Given the description of an element on the screen output the (x, y) to click on. 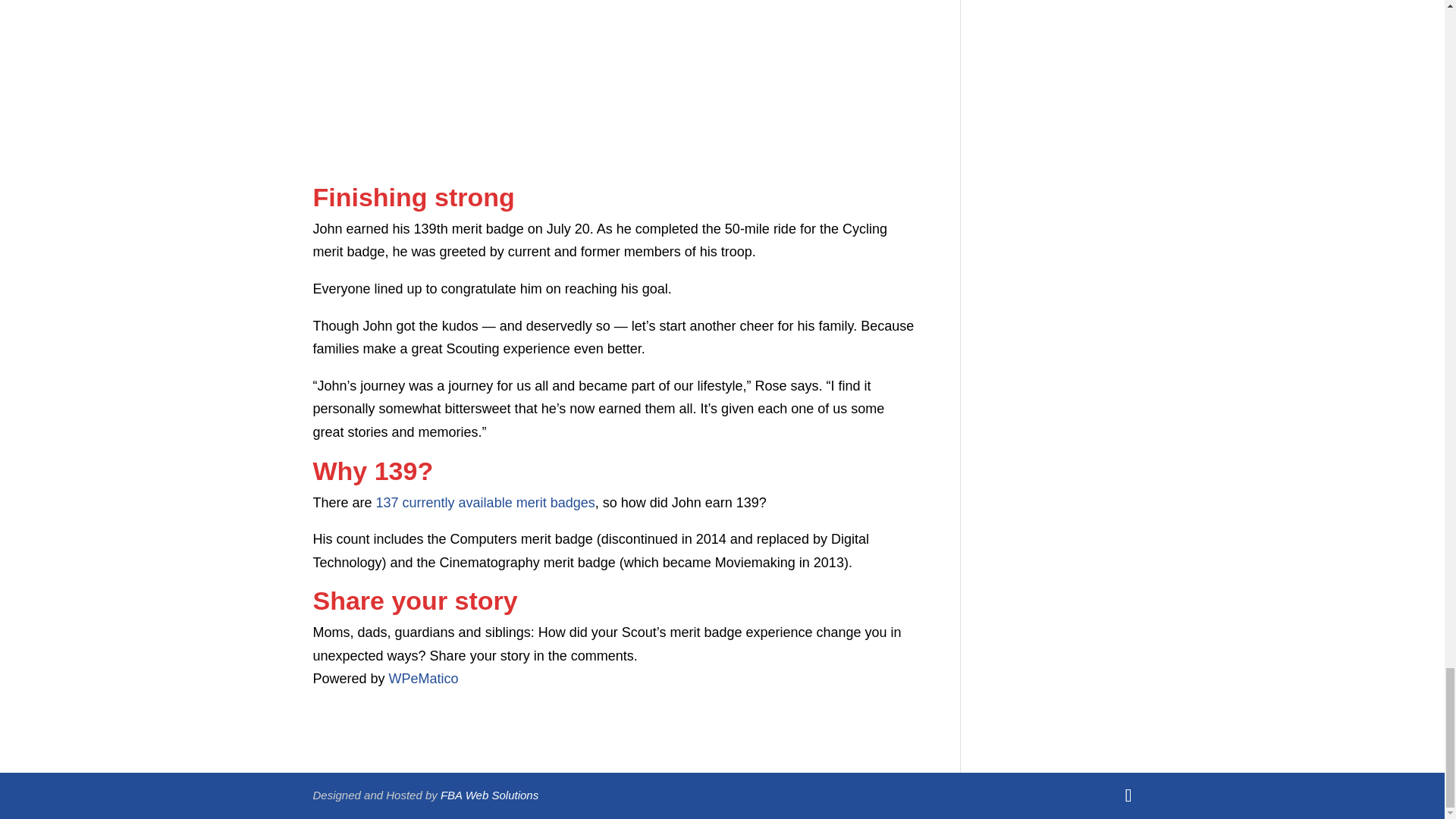
137 currently available merit badges (485, 501)
WPeMatico (423, 678)
